Given the description of an element on the screen output the (x, y) to click on. 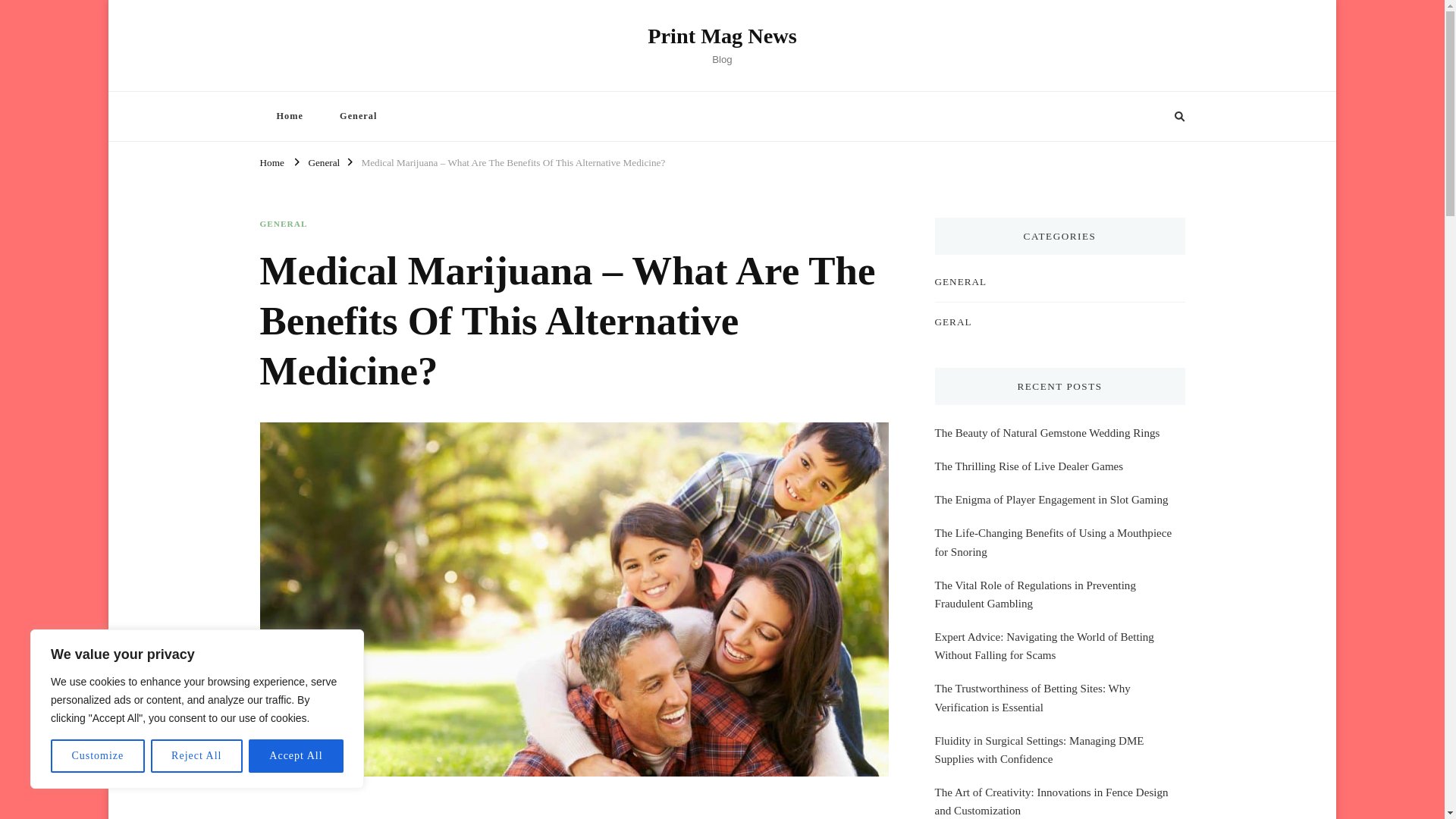
Print Mag News (721, 35)
Accept All (295, 756)
GENERAL (283, 223)
General (358, 115)
Customize (97, 756)
General (323, 161)
Reject All (197, 756)
Home (271, 161)
Home (288, 115)
